Given the description of an element on the screen output the (x, y) to click on. 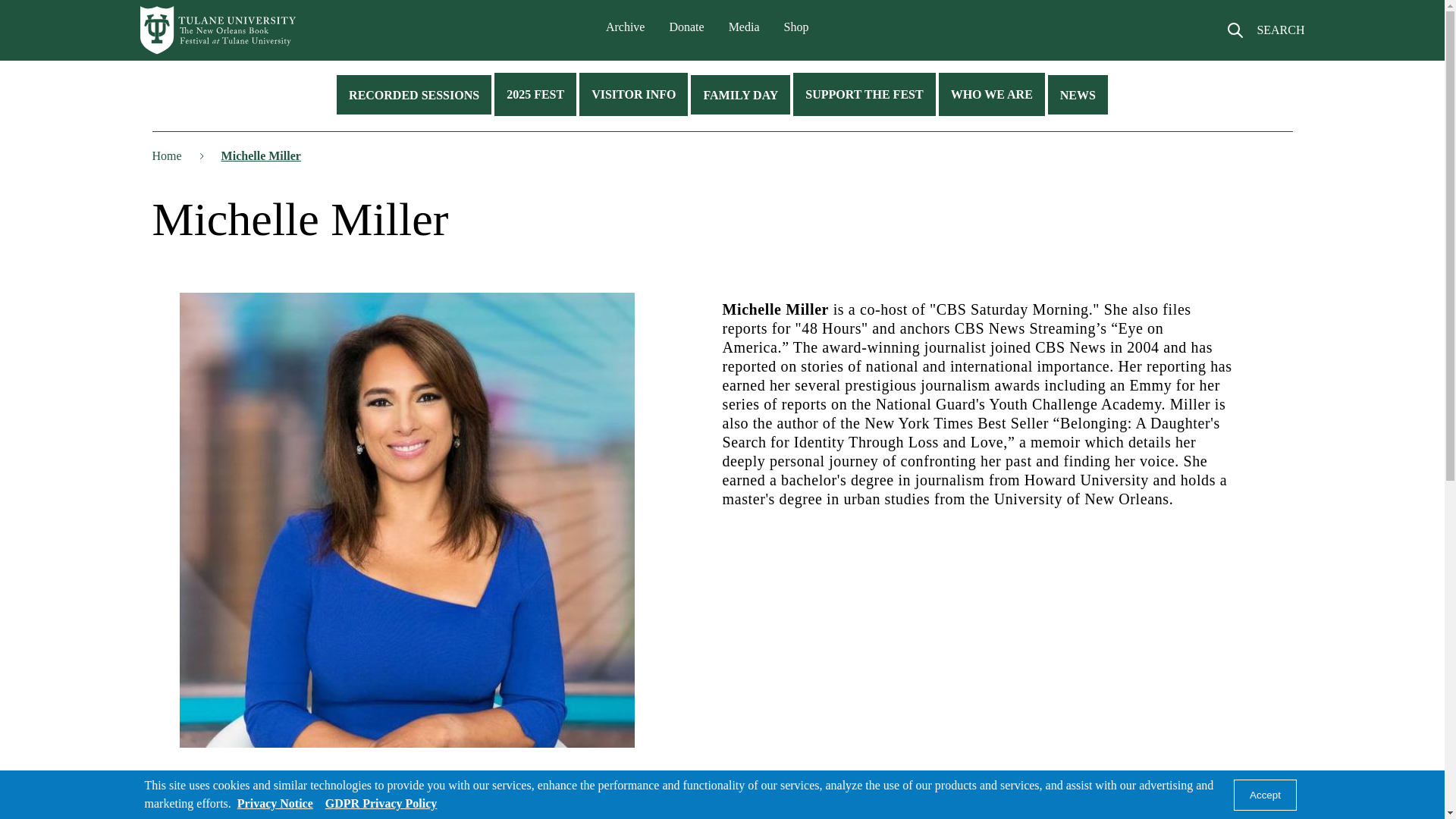
GDPR Privacy Policy (381, 802)
Media (744, 26)
Archive (625, 26)
Accept (1265, 794)
Donate (685, 26)
SEARCH (1264, 36)
Shop (796, 26)
Home (218, 29)
Privacy Notice (275, 802)
